Given the description of an element on the screen output the (x, y) to click on. 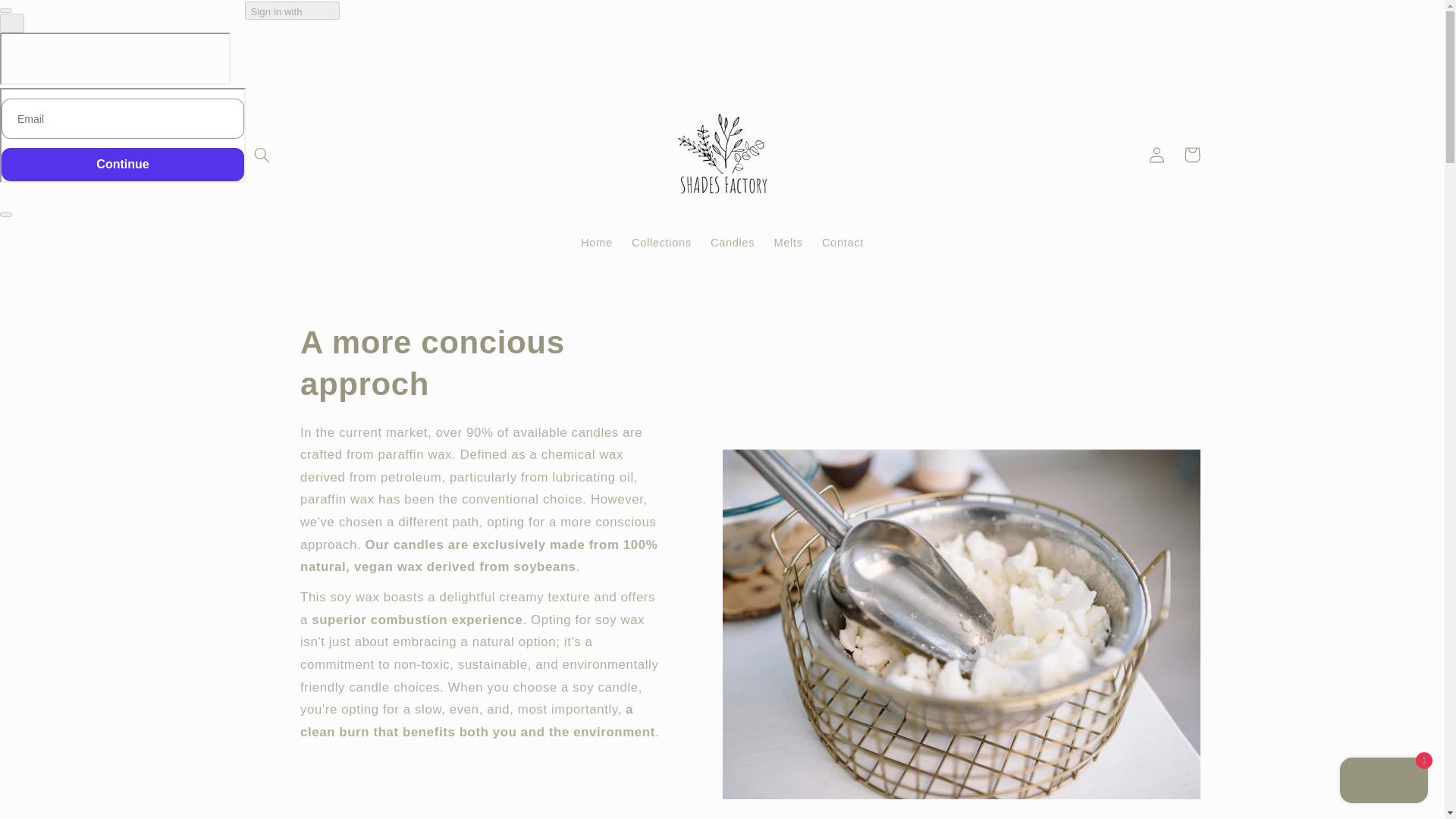
Shopify online store chat (1383, 781)
Skip to content (48, 18)
Cart (1191, 154)
Home (595, 242)
Collections (660, 242)
Candles (732, 242)
Contact (842, 242)
Melts (788, 242)
Log in (1157, 154)
